Given the description of an element on the screen output the (x, y) to click on. 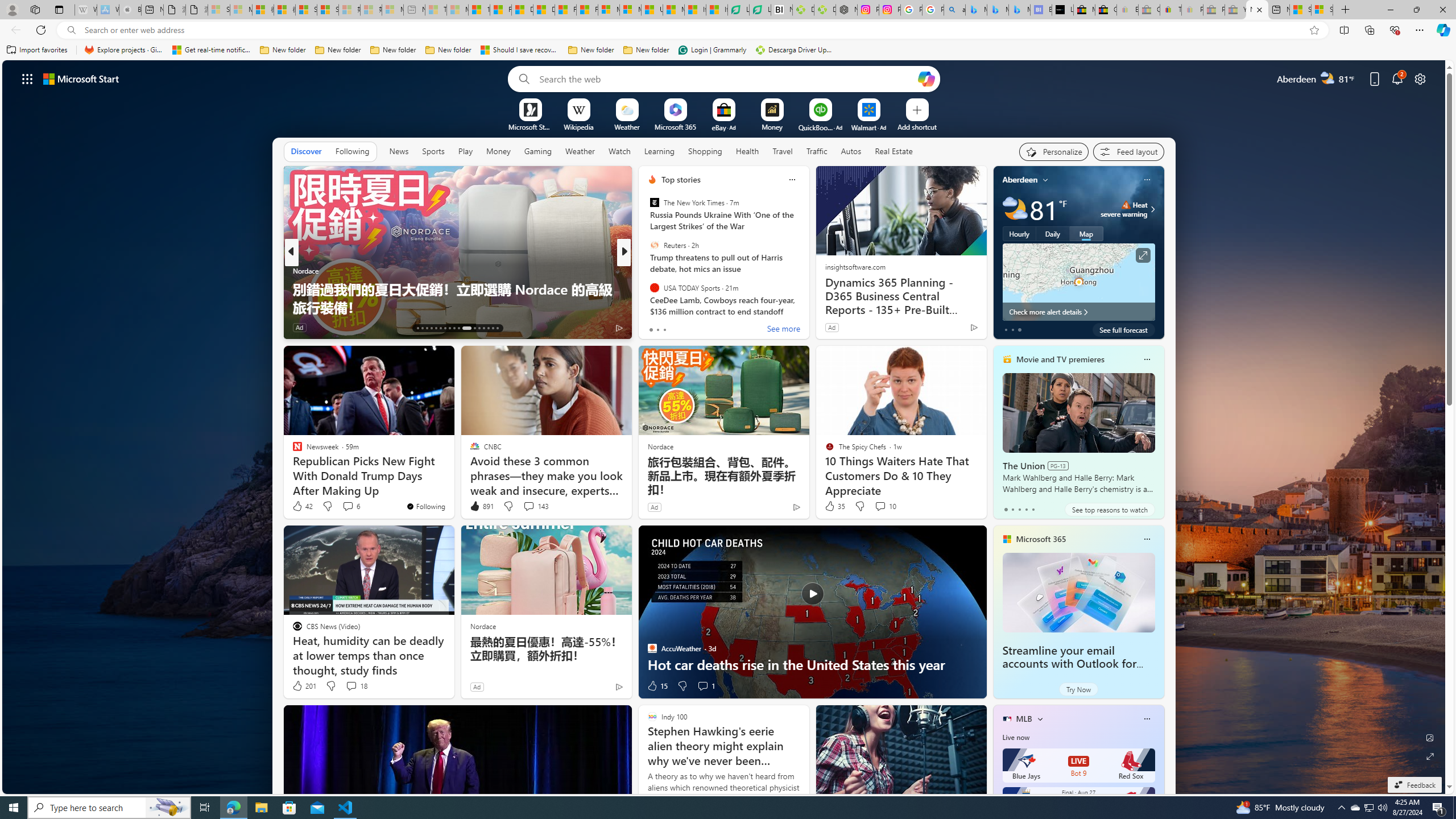
Personalize your feed" (1054, 151)
Press Room - eBay Inc. - Sleeping (1214, 9)
AutomationID: tab-23 (466, 328)
Partly cloudy (1014, 208)
Travel (782, 151)
alabama high school quarterback dies - Search (954, 9)
Weather (579, 151)
AutomationID: tab-30 (483, 328)
This story is trending (951, 329)
Reuters (654, 245)
